Given the description of an element on the screen output the (x, y) to click on. 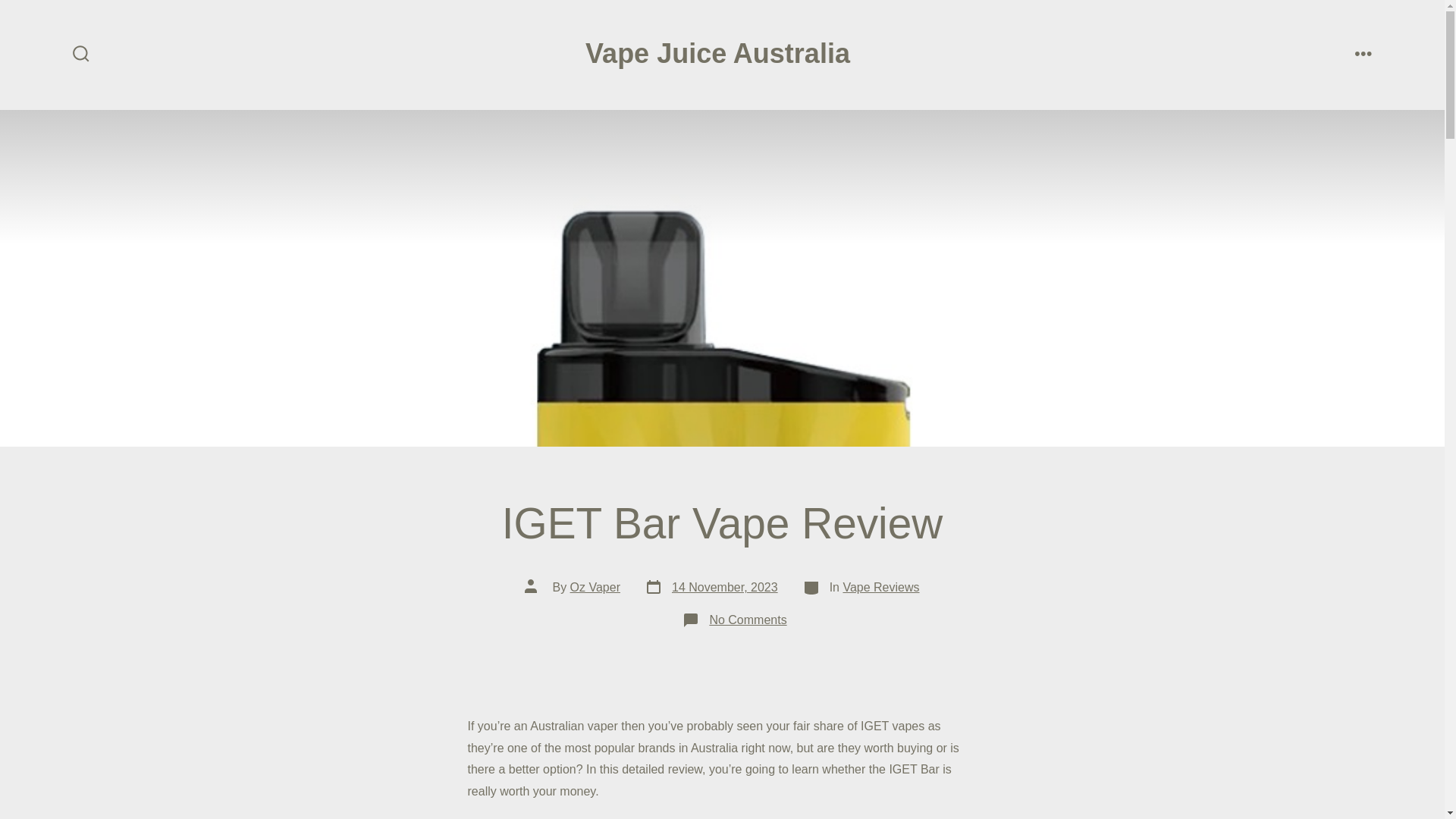
Oz Vaper (711, 588)
Vape Juice Australia (747, 619)
menu (595, 586)
search toggle (717, 54)
Vape Reviews (1362, 54)
